Given the description of an element on the screen output the (x, y) to click on. 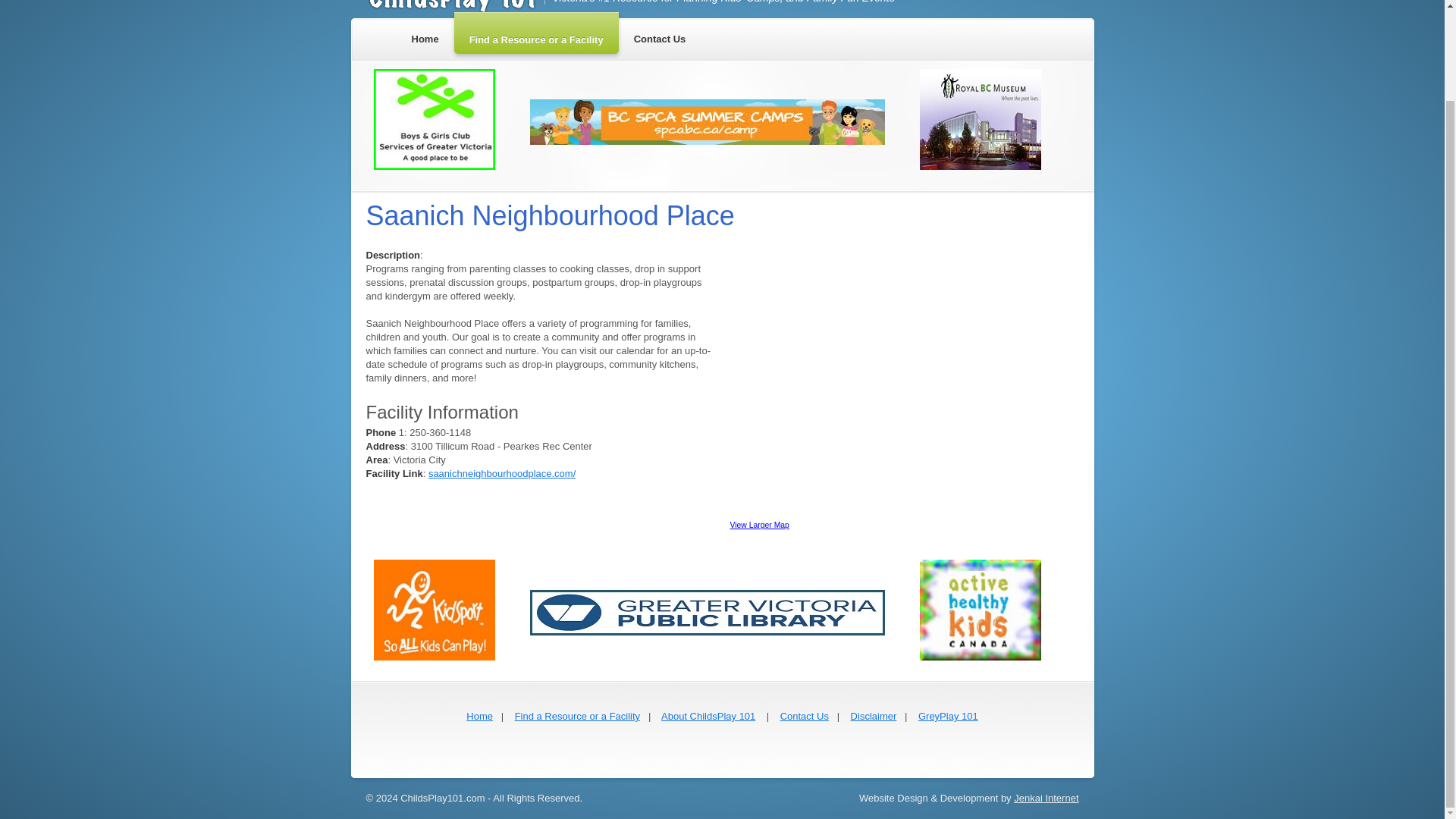
About ChildsPlay 101 (708, 715)
Find a Resource or a Facility (577, 715)
Disclaimer (873, 715)
title (577, 715)
GreyPlay 101 (948, 715)
Home (479, 715)
Find a Resource or a Facility (536, 36)
View Larger Map (759, 524)
title (479, 715)
title (708, 715)
Contact Us (804, 715)
Home (424, 35)
title (804, 715)
title (948, 715)
